Given the description of an element on the screen output the (x, y) to click on. 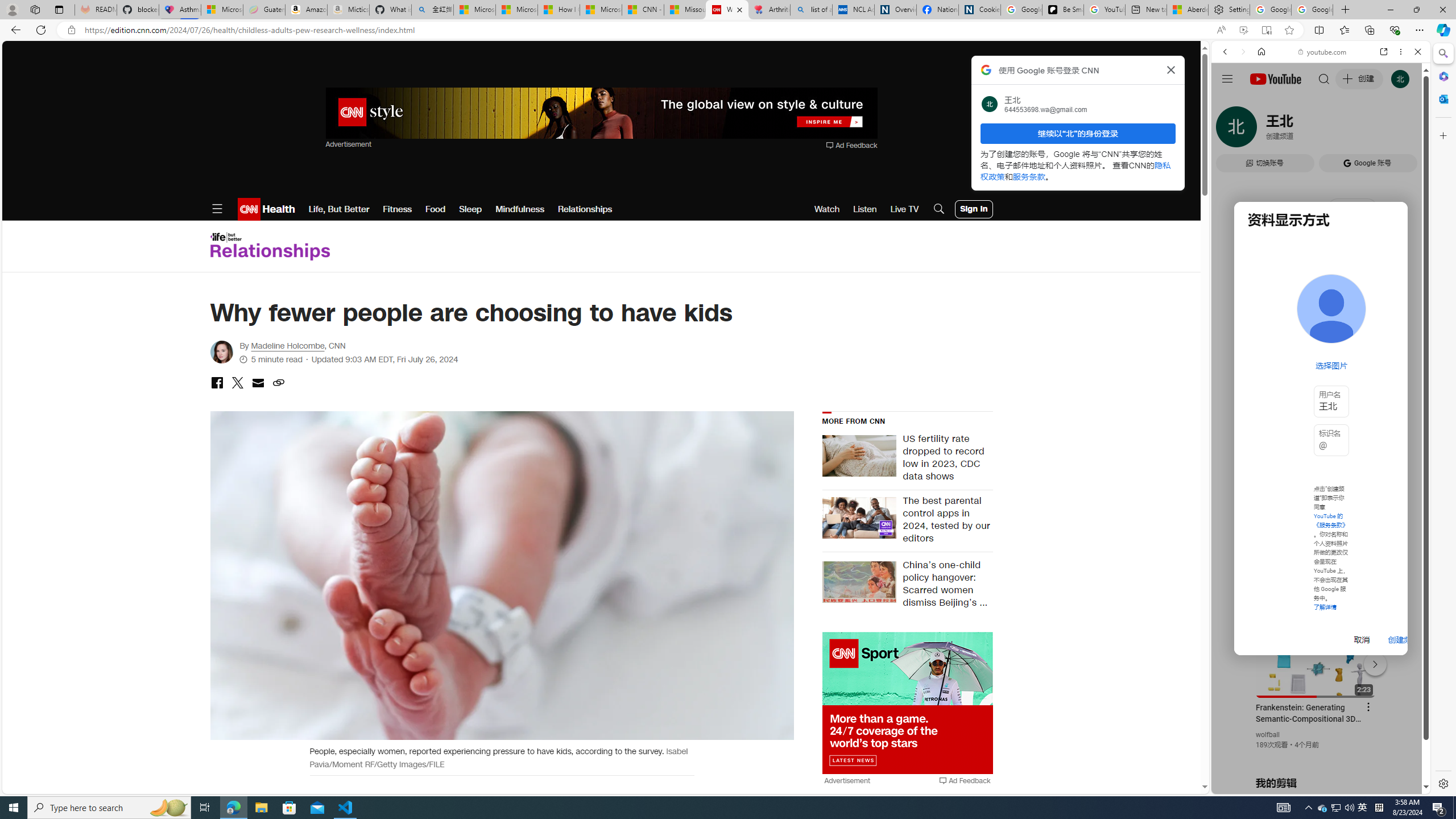
Sleep (469, 209)
Listen (864, 208)
Class: dict_pnIcon rms_img (1312, 784)
Music (1320, 309)
Show More Music (1390, 310)
Class: Bz112c Bz112c-r9oPif (1170, 69)
